Given the description of an element on the screen output the (x, y) to click on. 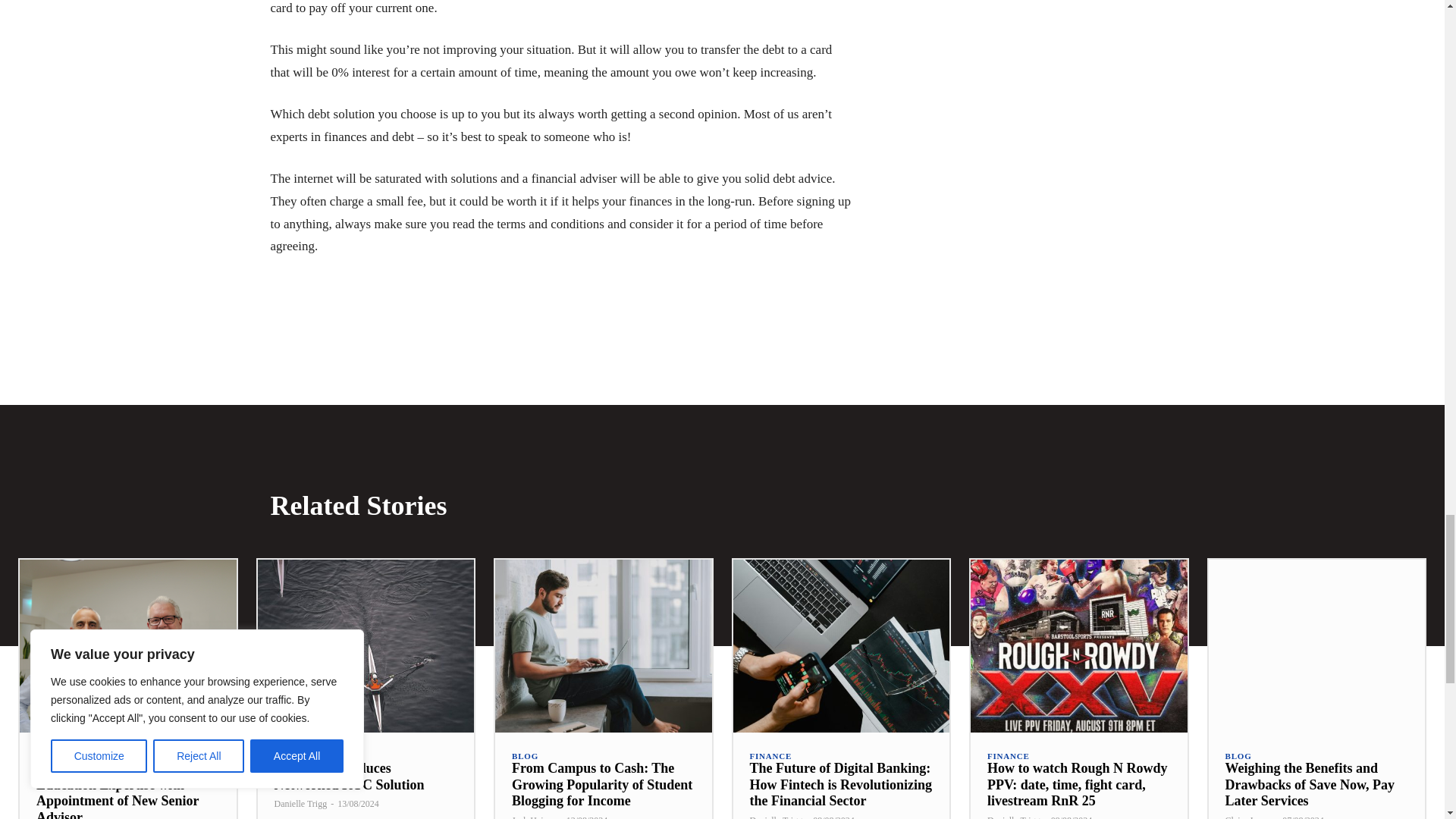
KYC360 Introduces Networked KYC Solution (365, 645)
KYC360 Introduces Networked KYC Solution (350, 776)
